Given the description of an element on the screen output the (x, y) to click on. 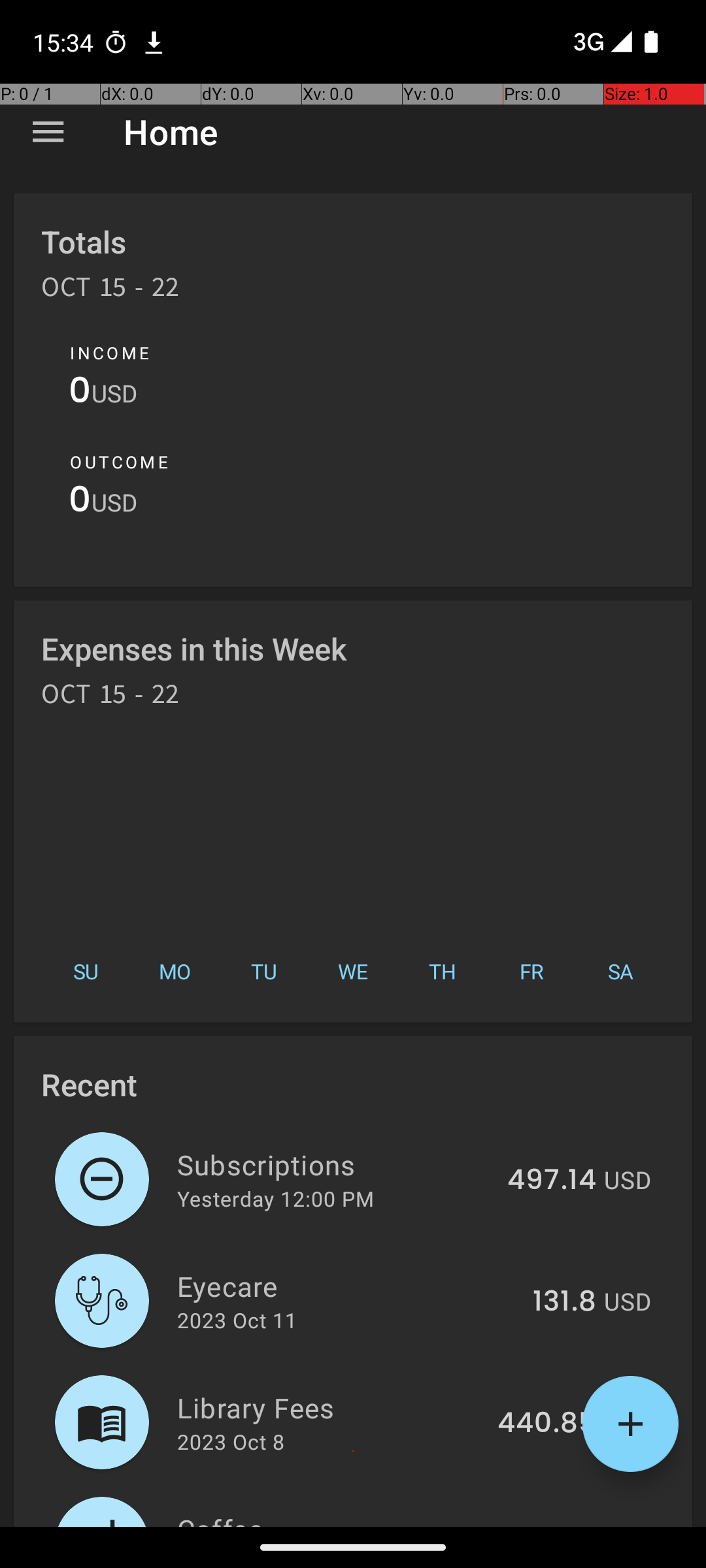
Yesterday 12:00 PM Element type: android.widget.TextView (275, 1198)
497.14 Element type: android.widget.TextView (551, 1180)
131.8 Element type: android.widget.TextView (564, 1301)
440.85 Element type: android.widget.TextView (546, 1423)
Coffee Element type: android.widget.TextView (334, 1518)
319.58 Element type: android.widget.TextView (550, 1524)
Chrome notification: m.youtube.com Element type: android.widget.ImageView (153, 41)
